Given the description of an element on the screen output the (x, y) to click on. 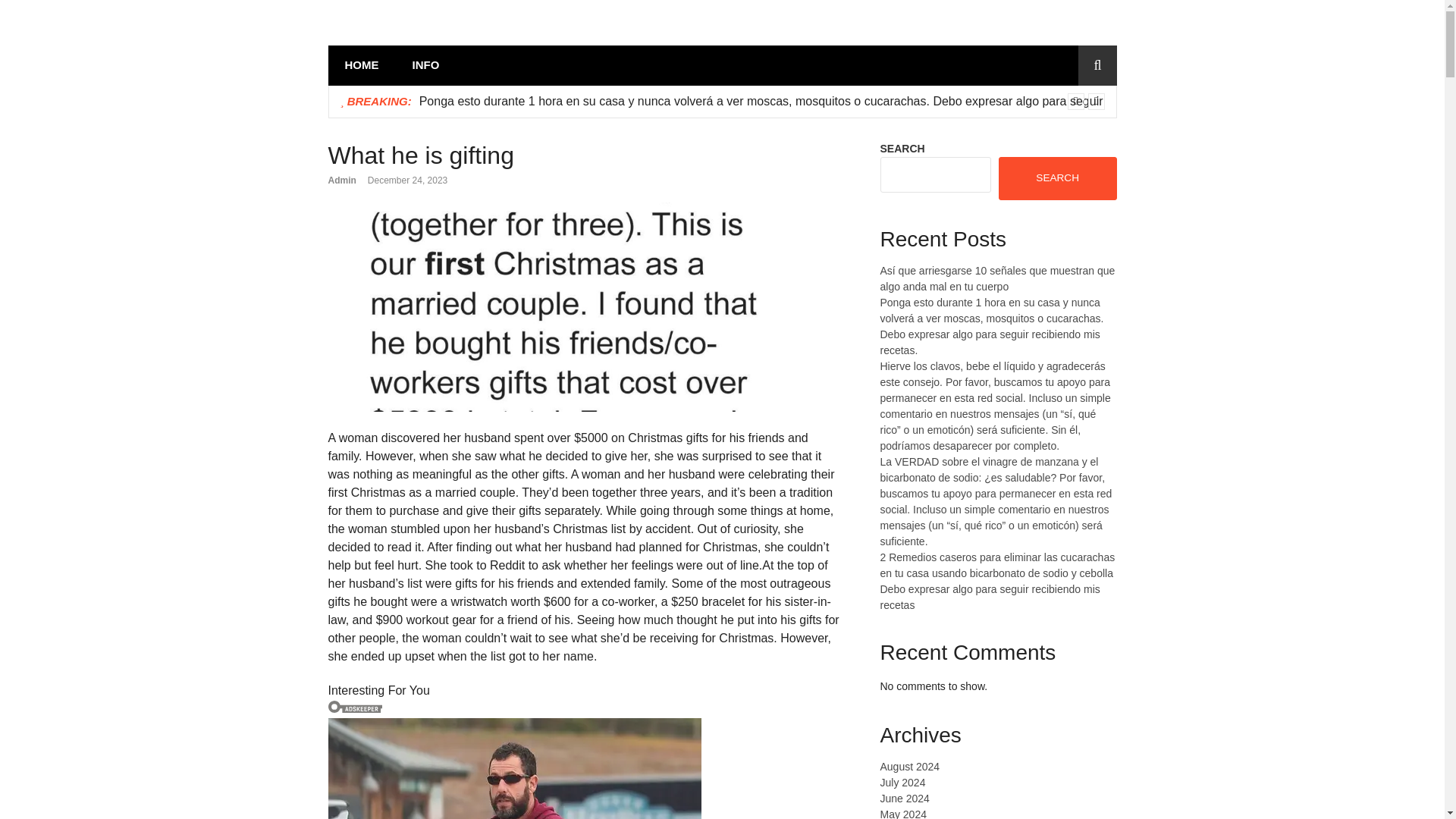
May 2024 (902, 813)
Admin (341, 180)
July 2024 (901, 782)
HOME (360, 65)
August 2024 (909, 766)
June 2024 (903, 798)
INFO (426, 65)
SEARCH (1057, 177)
